Given the description of an element on the screen output the (x, y) to click on. 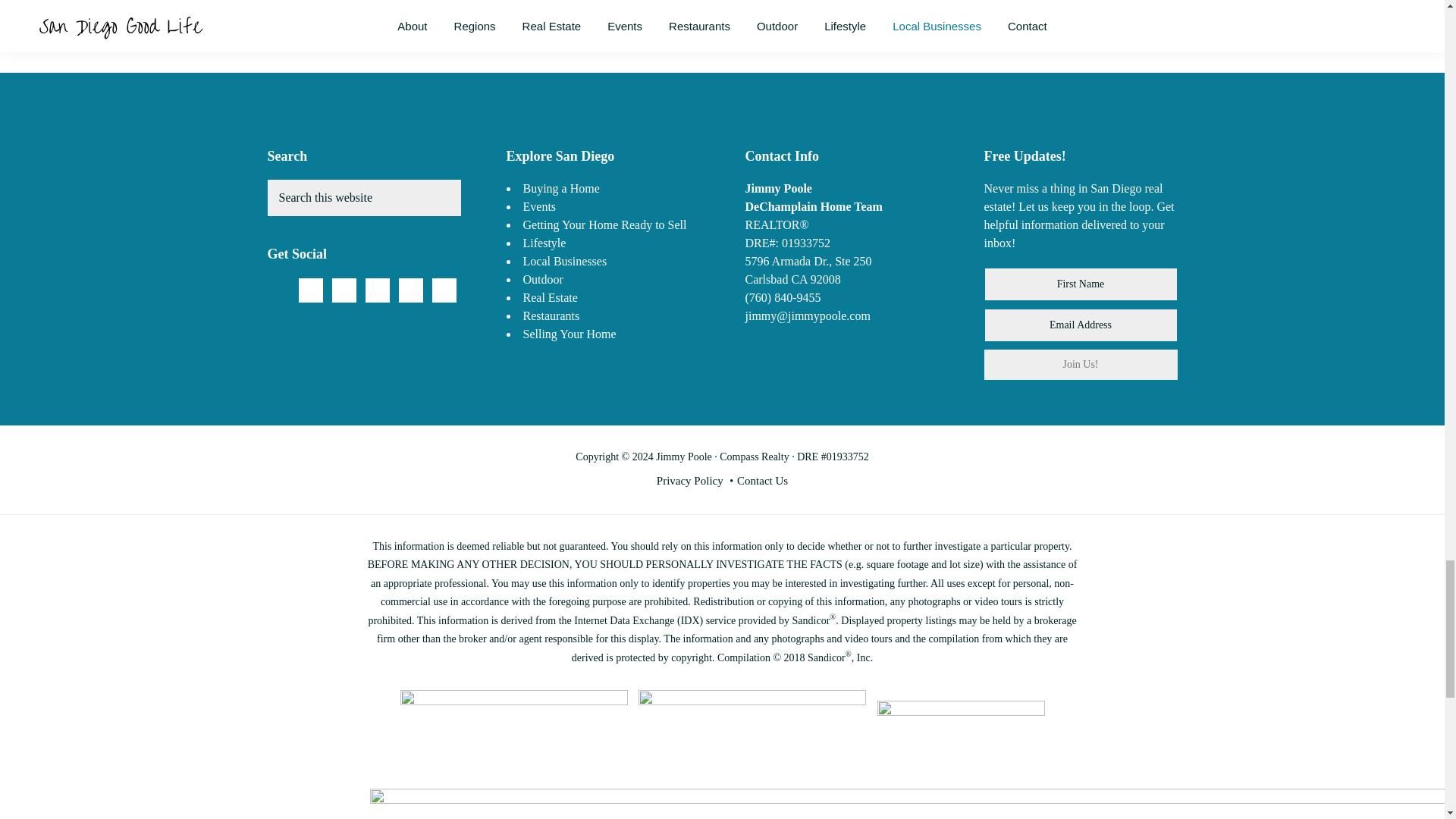
Join Us! (1080, 364)
